Given the description of an element on the screen output the (x, y) to click on. 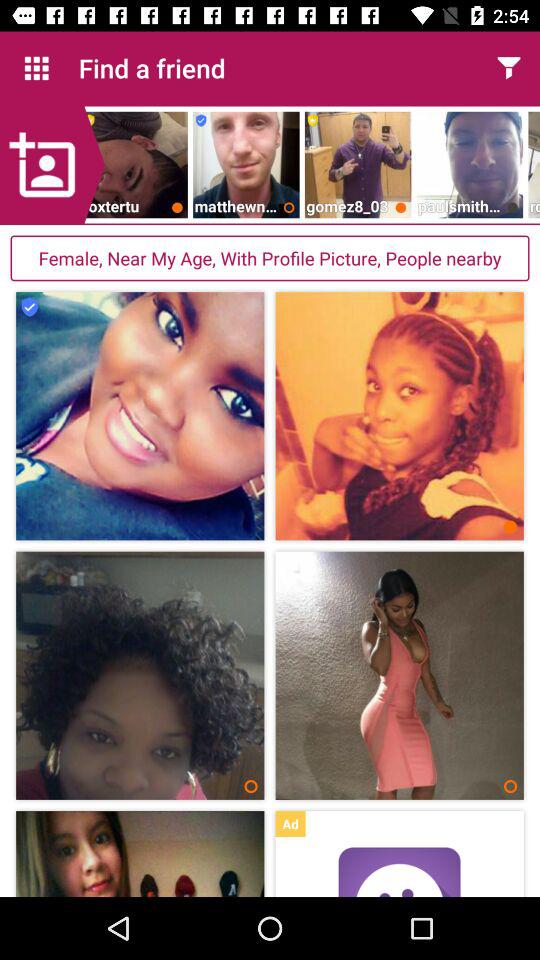
open options (508, 67)
